Given the description of an element on the screen output the (x, y) to click on. 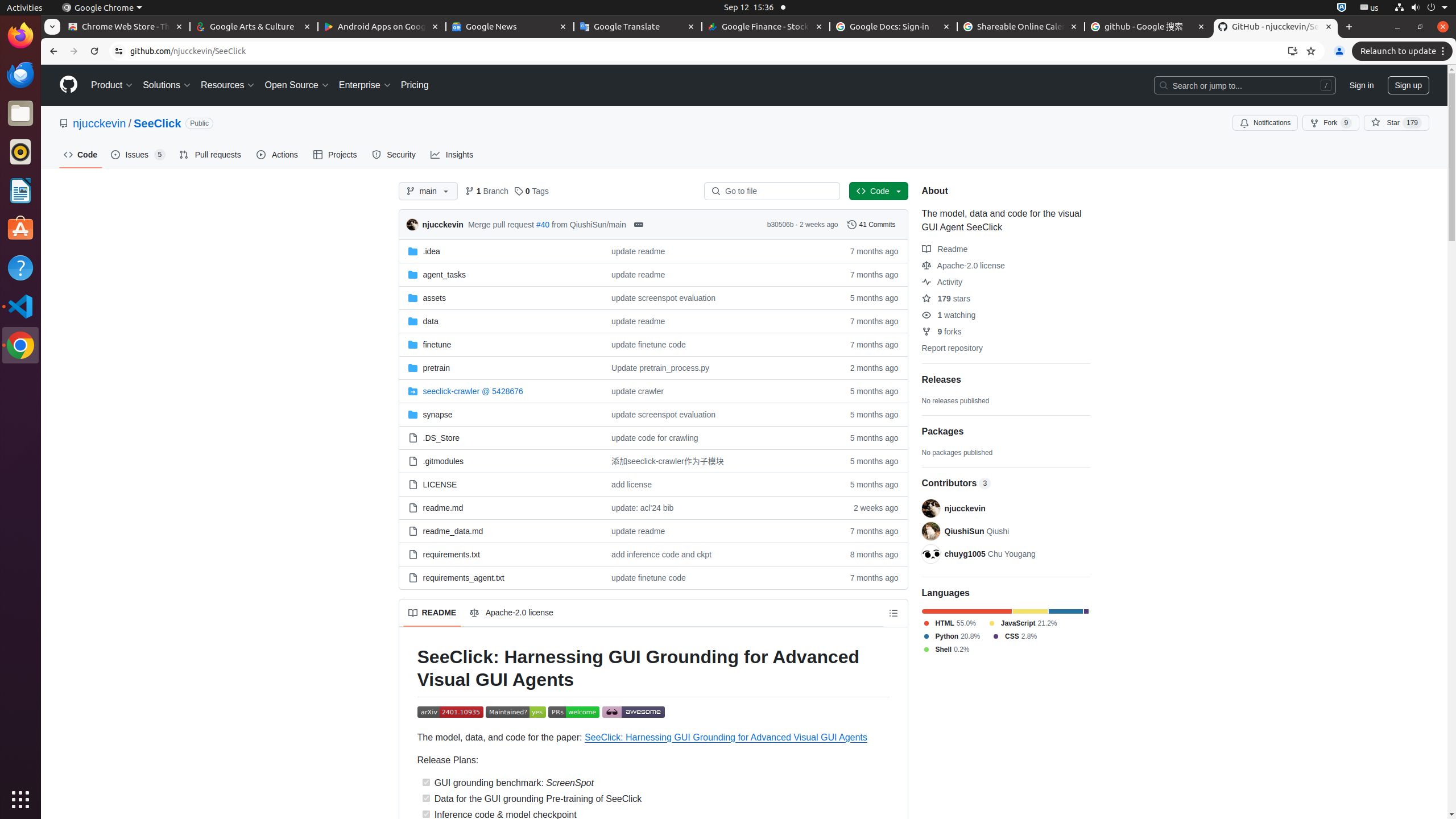
.gitmodules, (File) Element type: link (443, 460)
readme.md, (File) Element type: table-cell (500, 507)
Skip to content Element type: link (40, 64)
2 weeks ago Element type: table-cell (868, 507)
Thunderbird Mail Element type: push-button (20, 74)
